Given the description of an element on the screen output the (x, y) to click on. 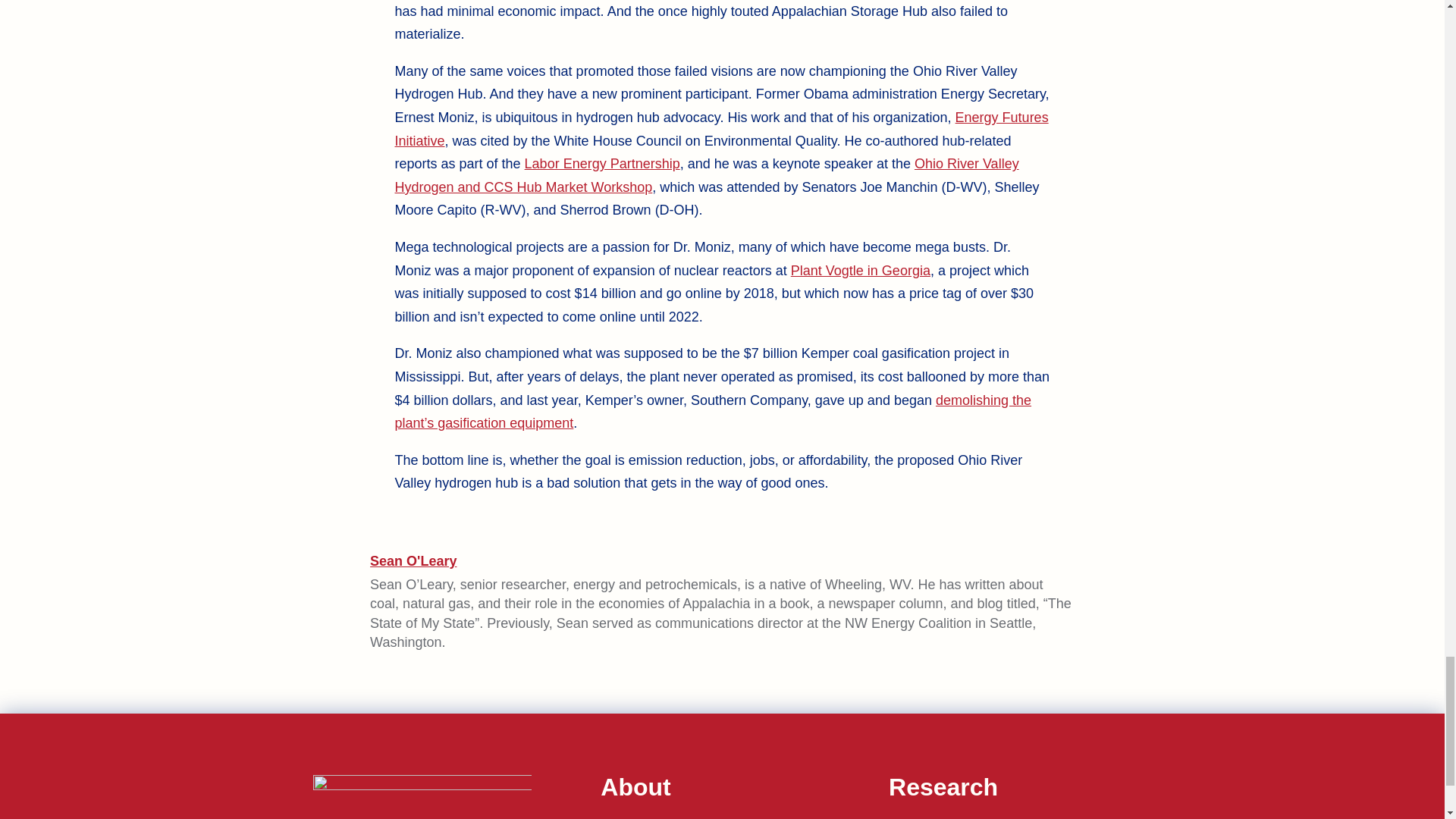
ORVI Logo White Version-01 (422, 796)
Plant Vogtle in Georgia (860, 270)
Ohio River Valley Hydrogen and CCS Hub Market Workshop (705, 175)
Labor Energy Partnership (601, 163)
Sean O'Leary (413, 560)
Energy Futures Initiative (721, 128)
